Given the description of an element on the screen output the (x, y) to click on. 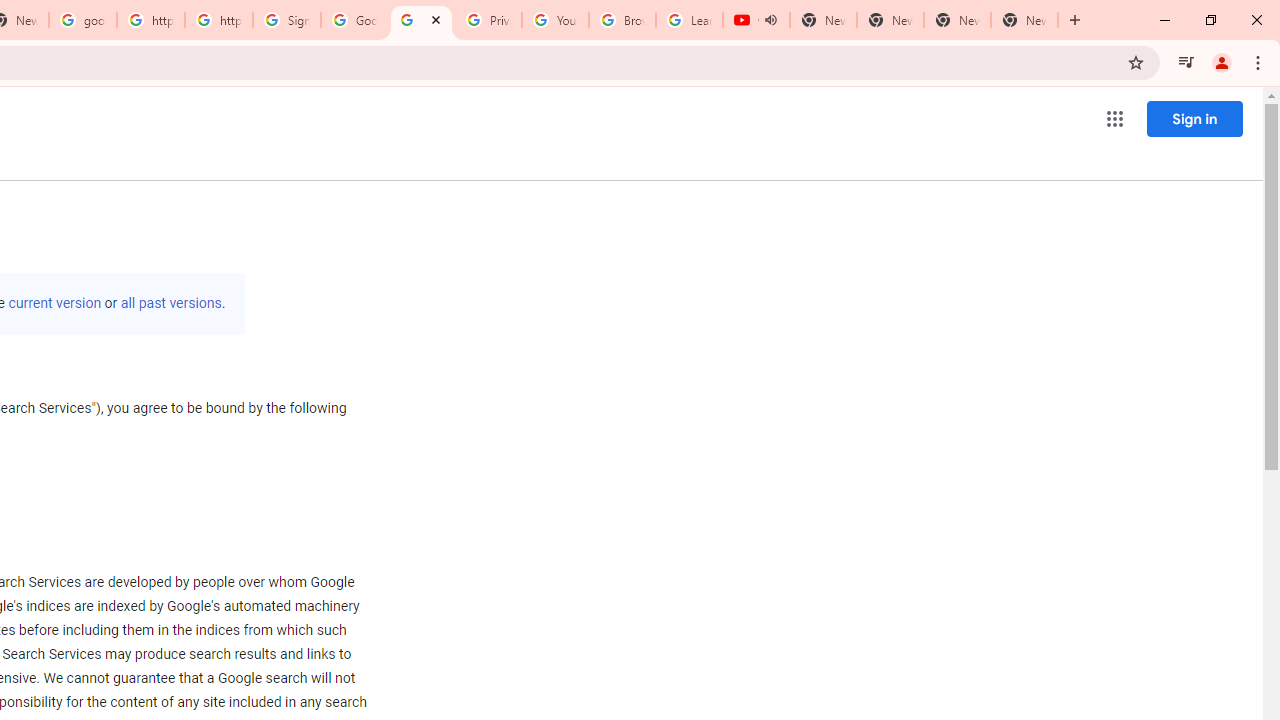
https://scholar.google.com/ (150, 20)
New Tab (1024, 20)
